Given the description of an element on the screen output the (x, y) to click on. 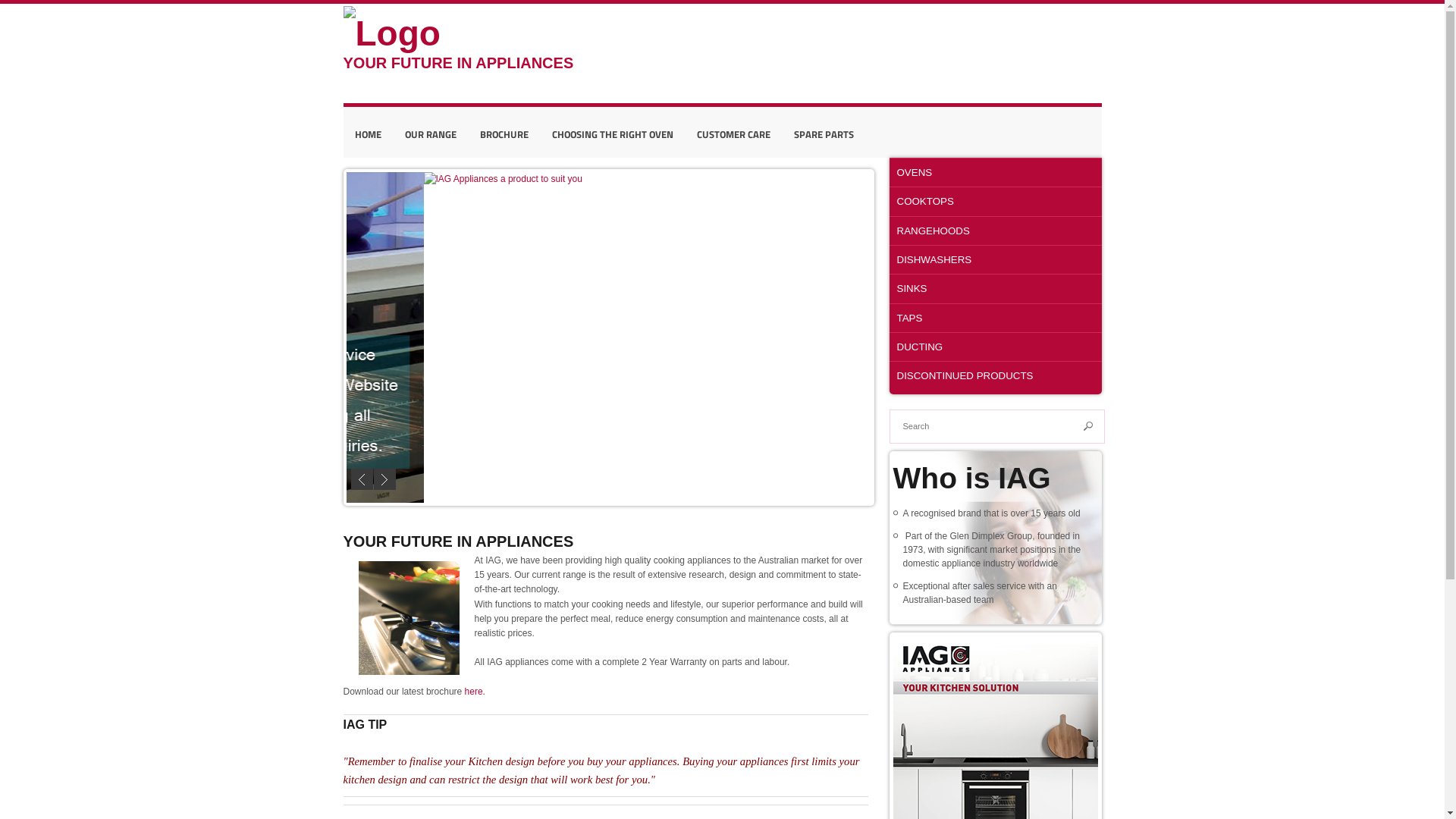
RANGEHOODS Element type: text (994, 230)
SINKS Element type: text (994, 287)
Previous Element type: text (361, 478)
OUR RANGE Element type: text (429, 133)
CHOOSING THE RIGHT OVEN Element type: text (611, 133)
here. Element type: text (474, 691)
BROCHURE Element type: text (503, 133)
COOKTOPS Element type: text (994, 200)
Next Element type: text (384, 478)
HOME Element type: text (367, 133)
Search Element type: text (1088, 425)
DUCTING Element type: text (994, 346)
Search Element type: hover (1088, 425)
CUSTOMER CARE Element type: text (733, 133)
SPARE PARTS Element type: text (823, 133)
DISHWASHERS Element type: text (994, 258)
YOUR FUTURE IN APPLIANCES Element type: text (481, 44)
TAPS Element type: text (994, 317)
DISCONTINUED PRODUCTS Element type: text (994, 374)
Logo Element type: hover (390, 34)
OVENS Element type: text (994, 171)
